Given the description of an element on the screen output the (x, y) to click on. 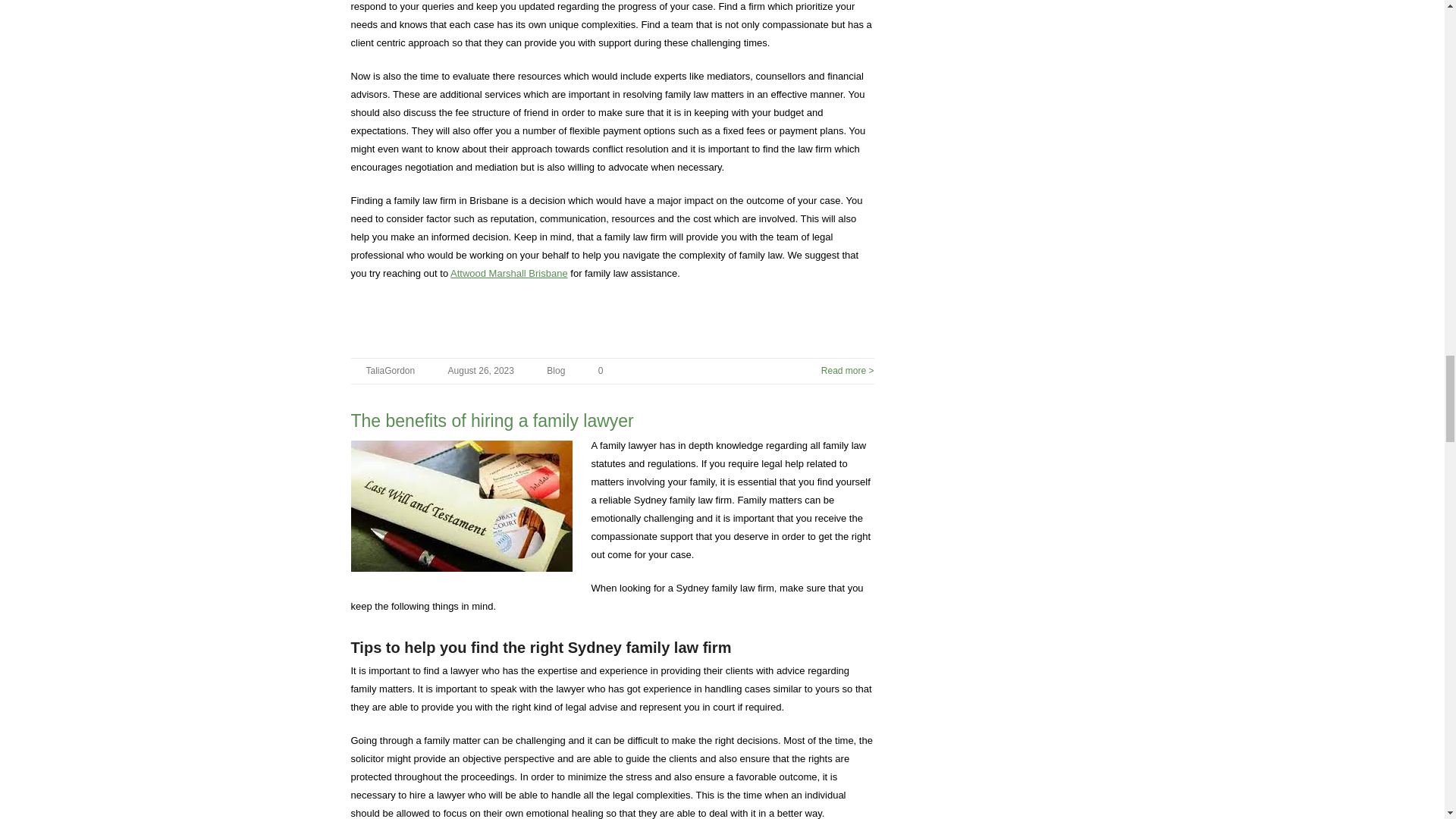
Blog (555, 370)
August 26, 2023 (480, 370)
Posts by TaliaGordon (389, 370)
Attwood Marshall Brisbane (508, 273)
The benefits of hiring a family lawyer (491, 420)
TaliaGordon (389, 370)
